Given the description of an element on the screen output the (x, y) to click on. 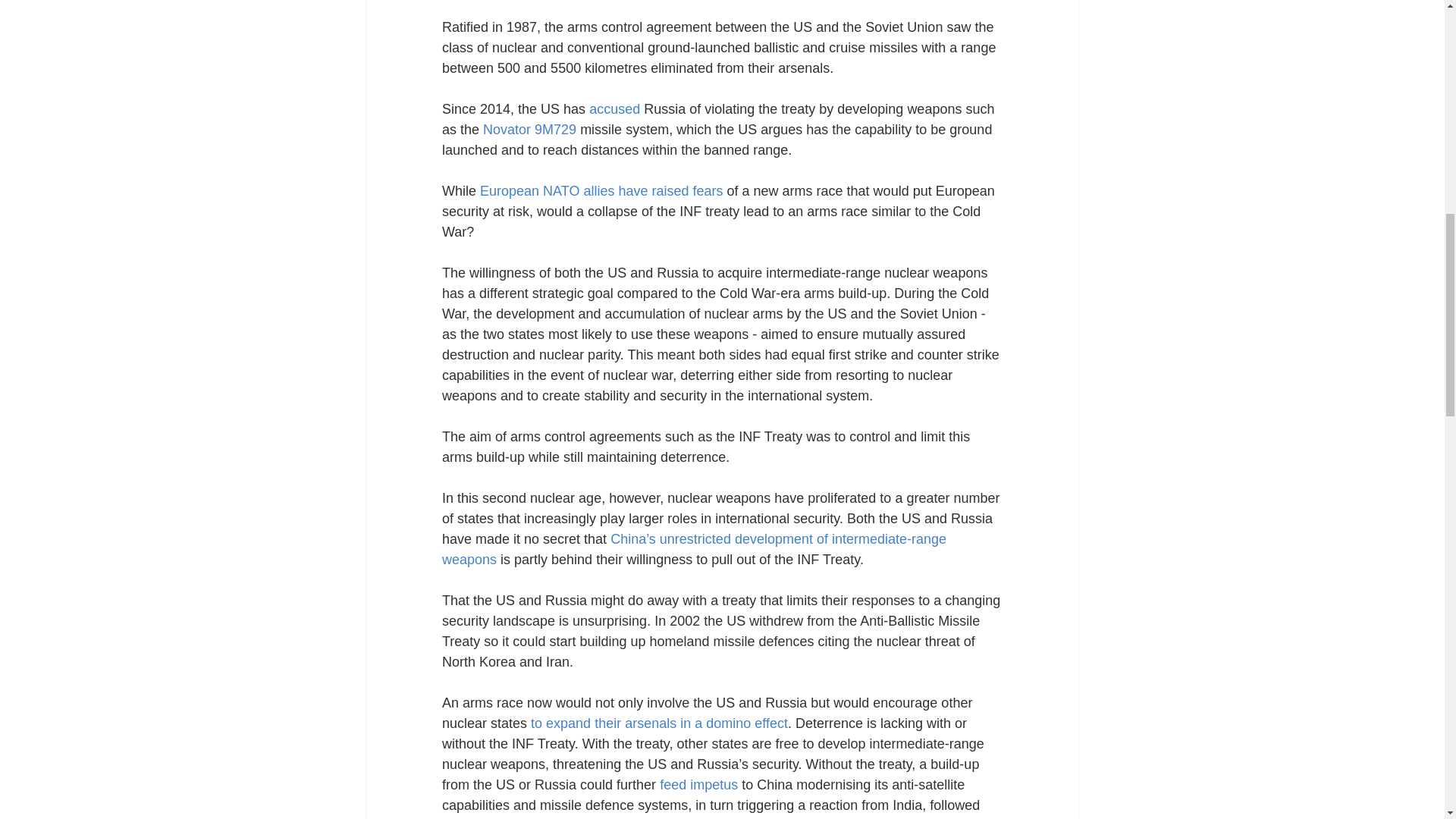
Novator 9M729  (531, 129)
 to expand their arsenals in a domino effect (657, 723)
feed impetus  (700, 784)
European NATO allies have raised fears (601, 191)
 accused  (614, 109)
